Given the description of an element on the screen output the (x, y) to click on. 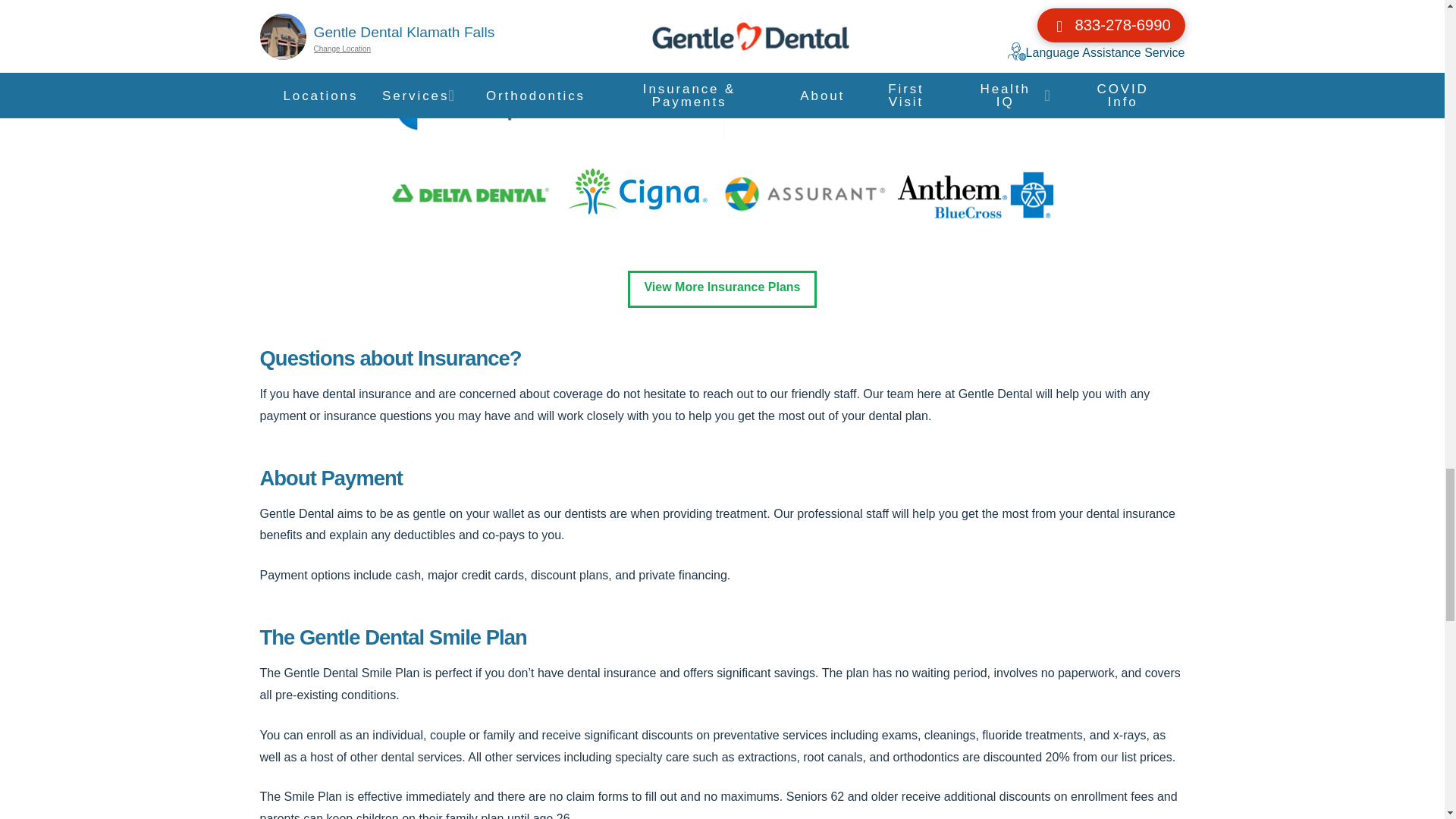
View More Insurance Plans (721, 289)
